Given the description of an element on the screen output the (x, y) to click on. 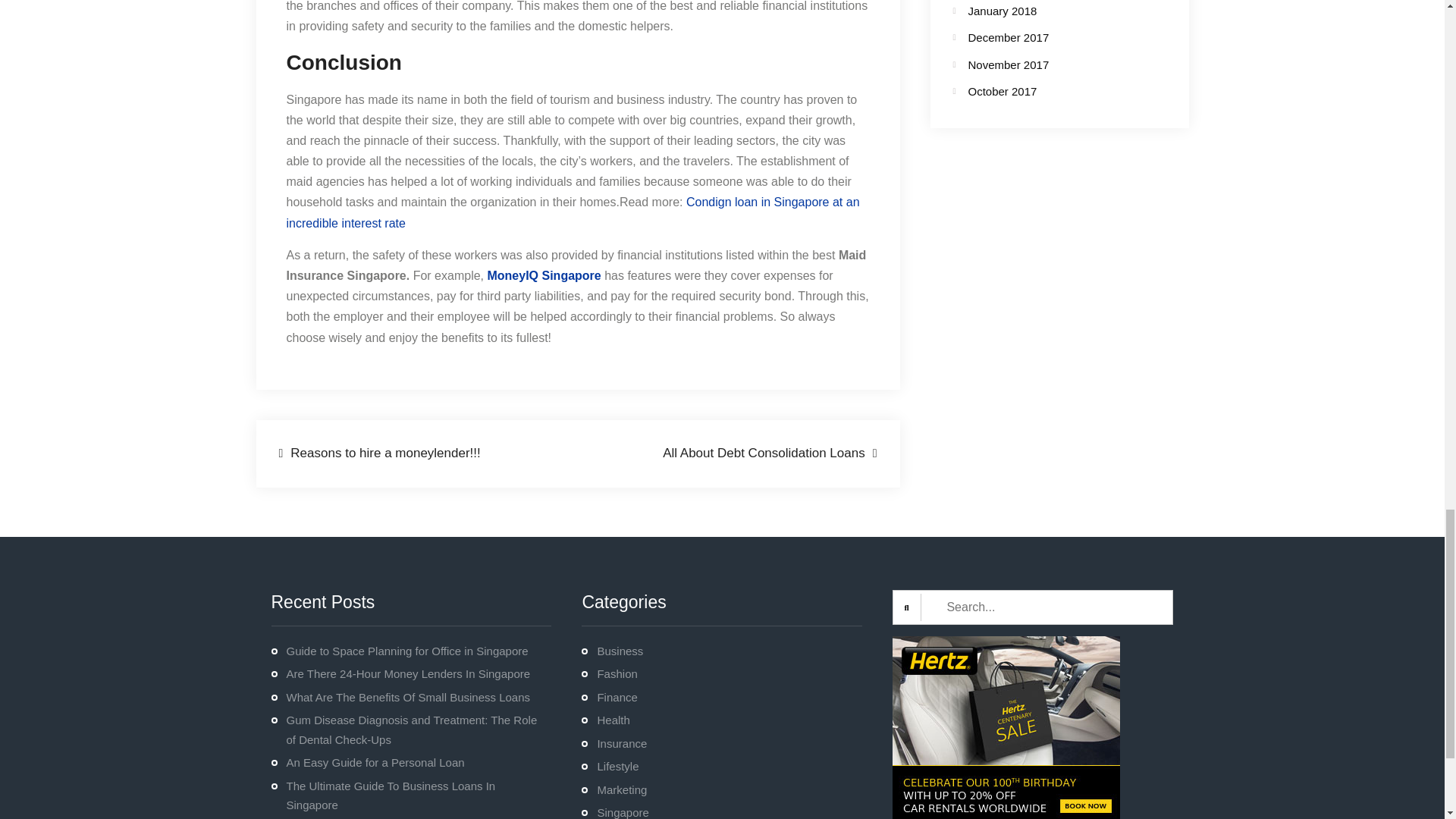
All About Debt Consolidation Loans (769, 454)
Condign loan in Singapore at an incredible interest rate (573, 212)
MoneyIQ Singapore (542, 275)
Reasons to hire a moneylender!!! (379, 454)
